Given the description of an element on the screen output the (x, y) to click on. 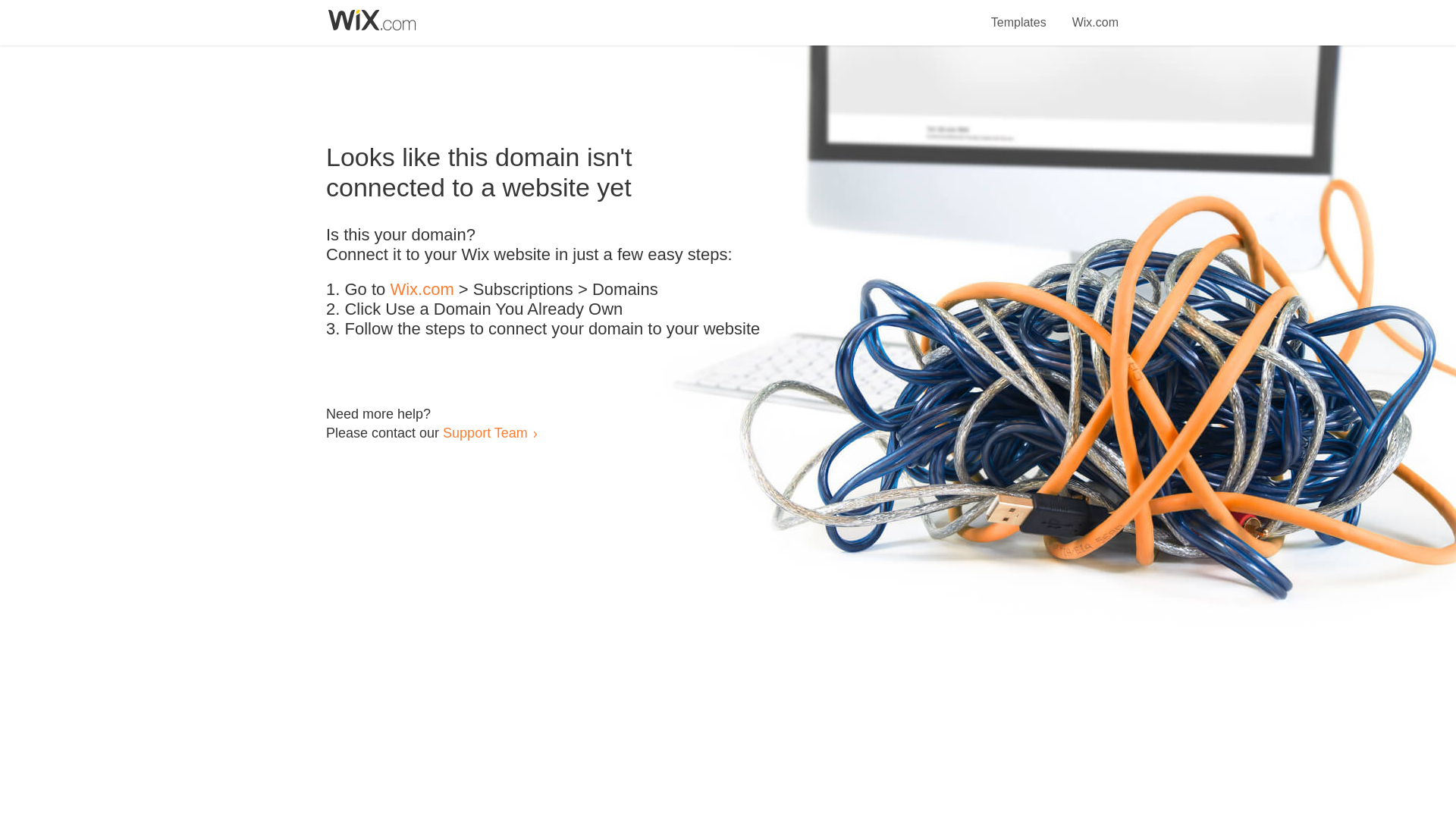
Support Team (484, 432)
Wix.com (1095, 14)
Templates (1018, 14)
Wix.com (421, 289)
